Given the description of an element on the screen output the (x, y) to click on. 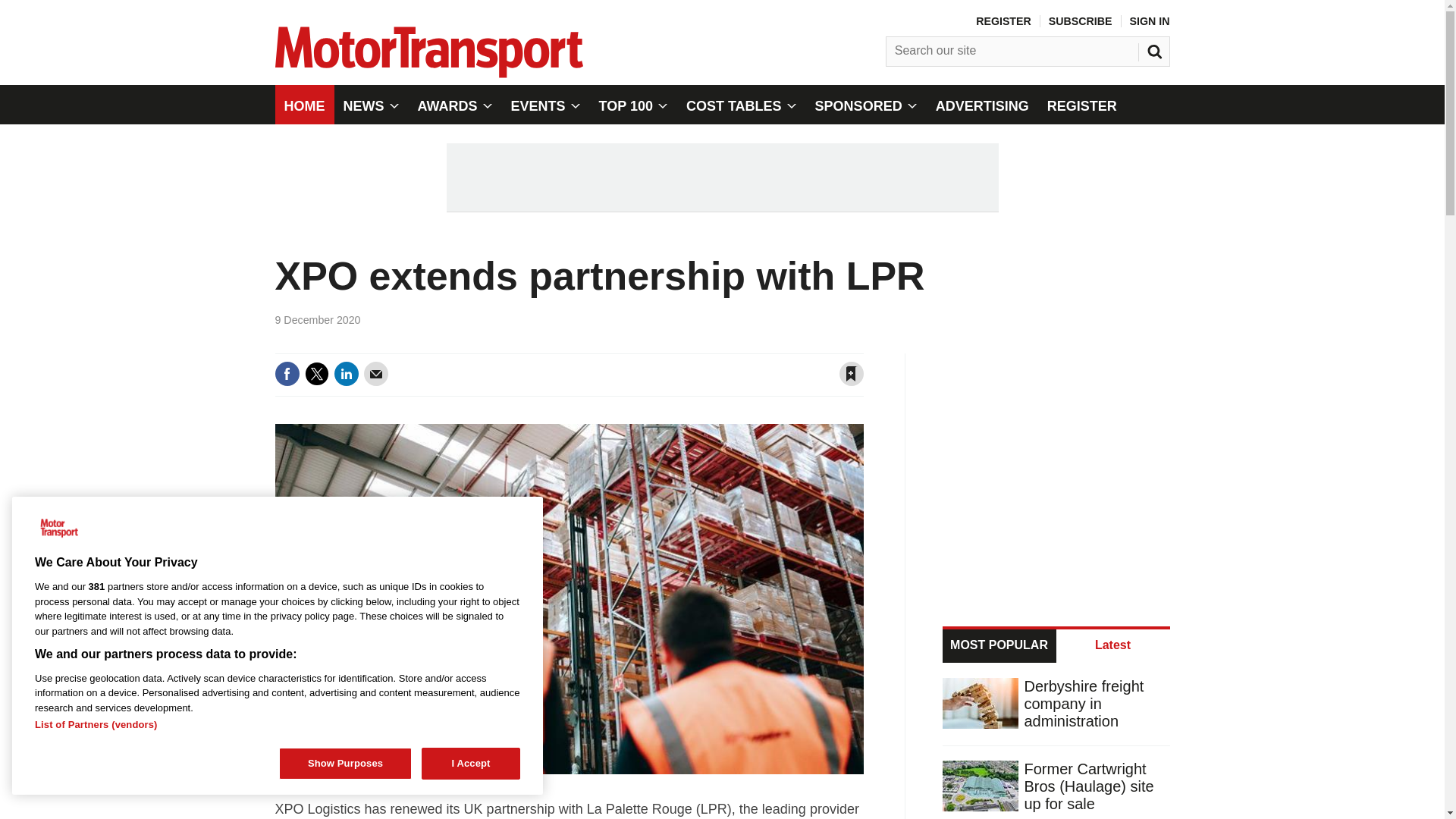
SIGN IN (1149, 21)
Site name (428, 73)
Email this article (376, 373)
Share this on Twitter (316, 373)
Motor Transport Logo (58, 528)
Share this on Linked in (345, 373)
REGISTER (1002, 21)
3rd party ad content (721, 177)
SEARCH (1156, 48)
Share this on Facebook (286, 373)
SUBSCRIBE (1080, 21)
3rd party ad content (1056, 471)
